Given the description of an element on the screen output the (x, y) to click on. 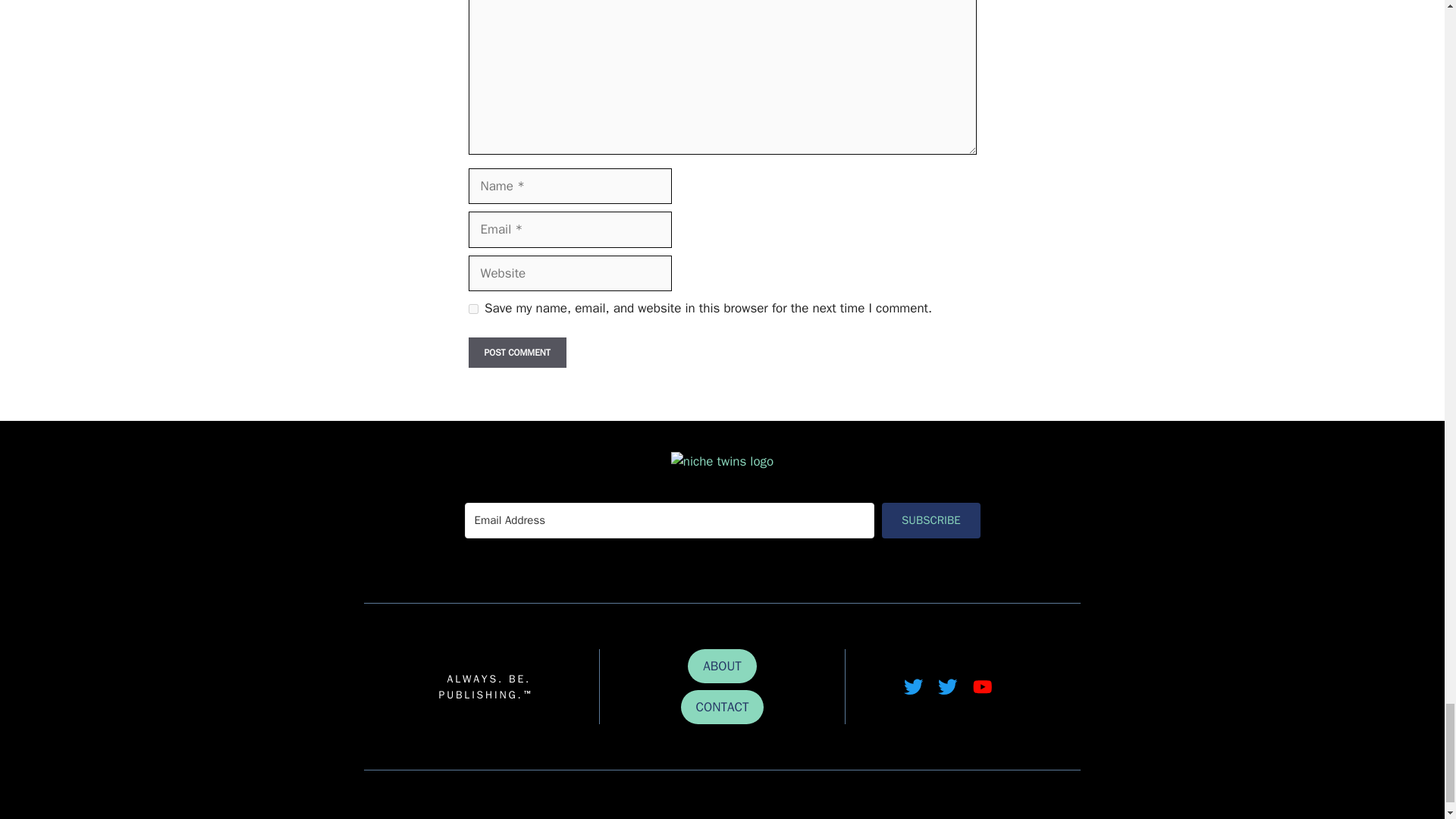
Post Comment (517, 352)
SUBSCRIBE (930, 520)
ABOUT (722, 666)
CONTACT (722, 707)
yes (473, 308)
Post Comment (517, 352)
